Given the description of an element on the screen output the (x, y) to click on. 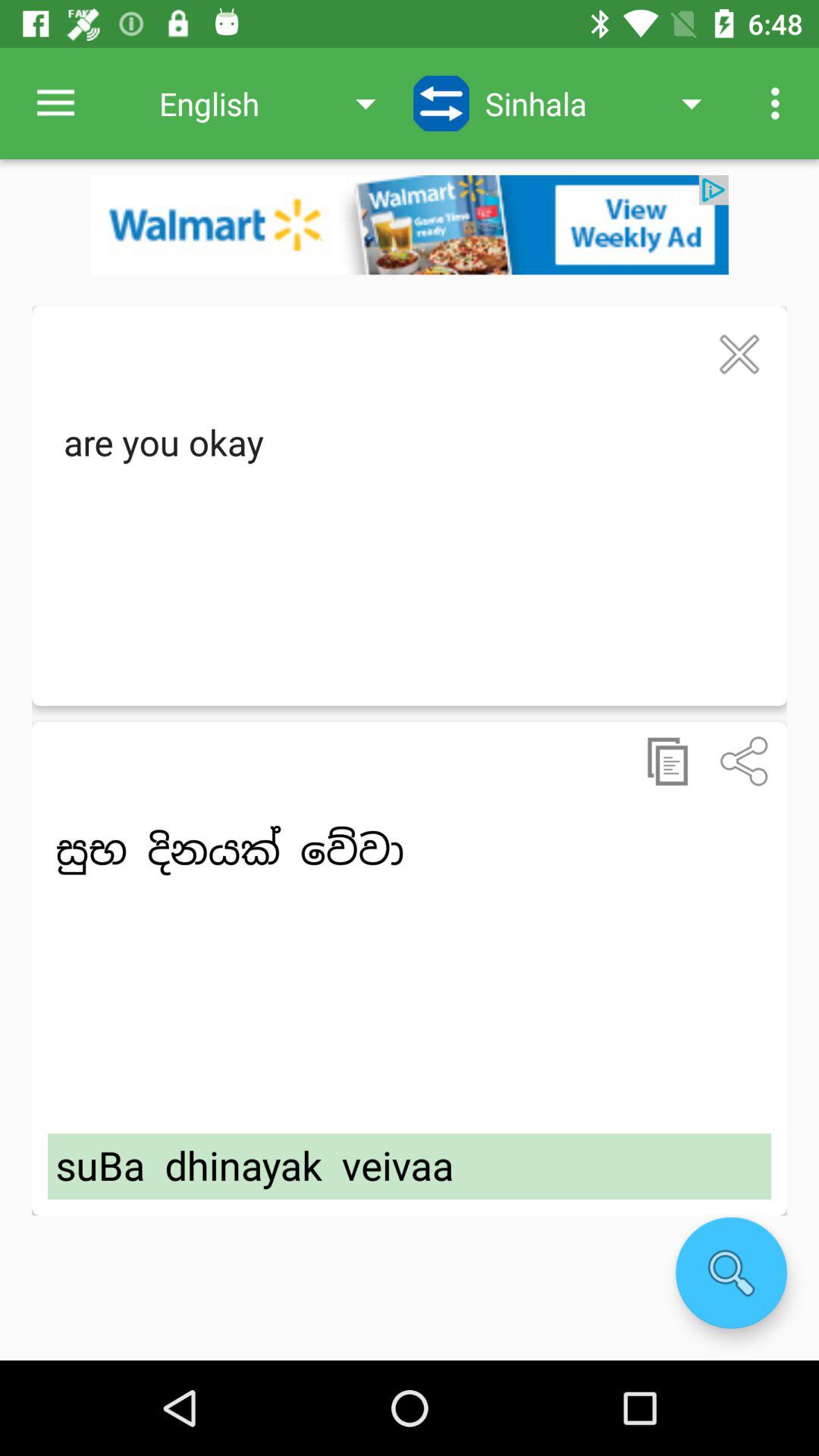
turn off the item to the left of sinhala item (441, 103)
